Given the description of an element on the screen output the (x, y) to click on. 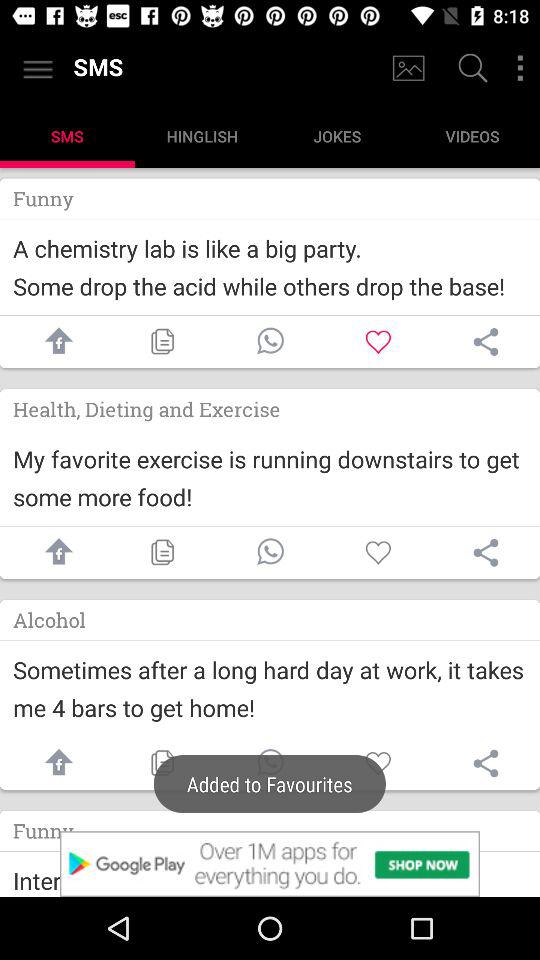
paste button (162, 552)
